Given the description of an element on the screen output the (x, y) to click on. 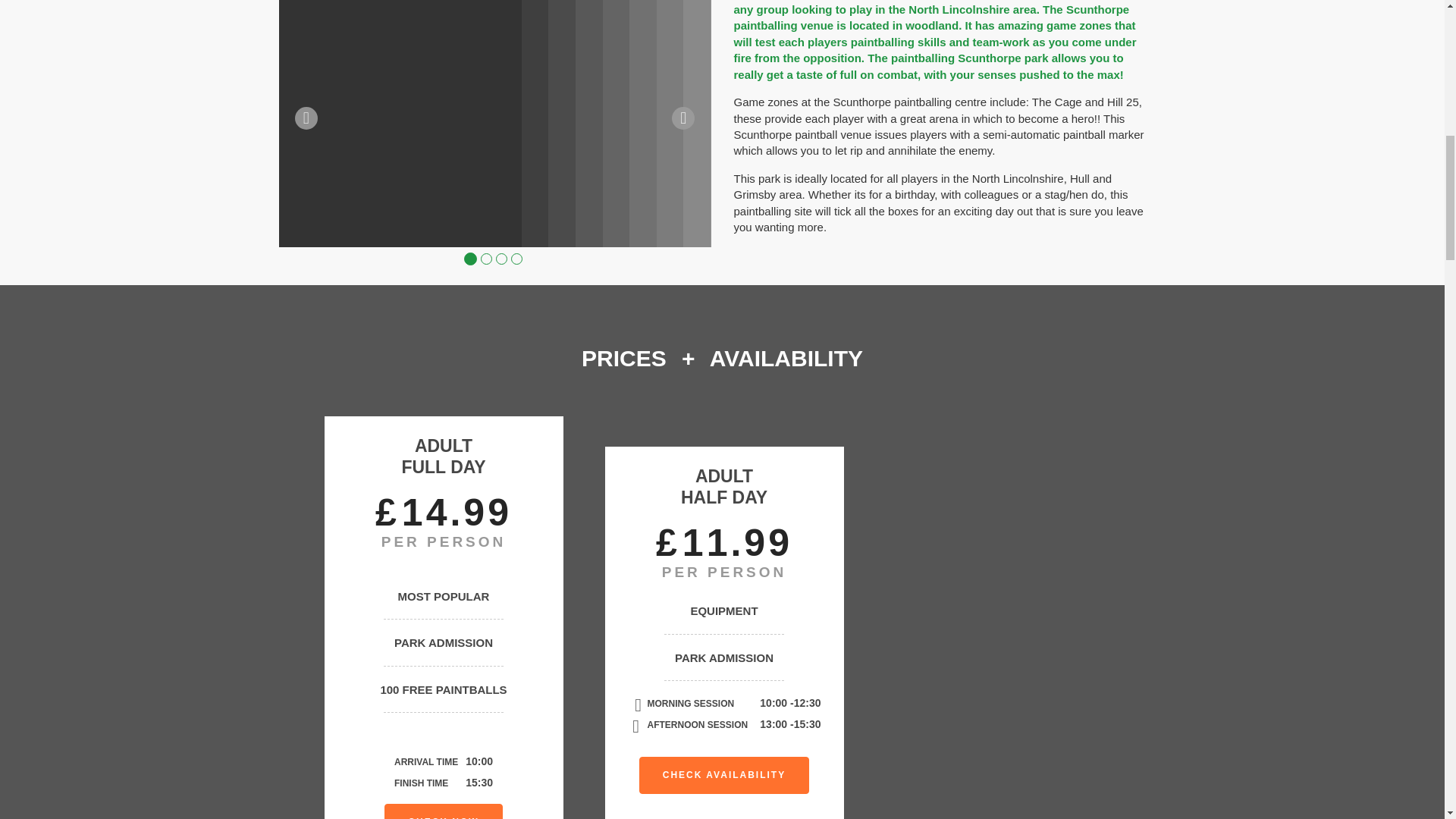
CHECK NOW (443, 811)
CHECK AVAILABILITY (724, 774)
